Given the description of an element on the screen output the (x, y) to click on. 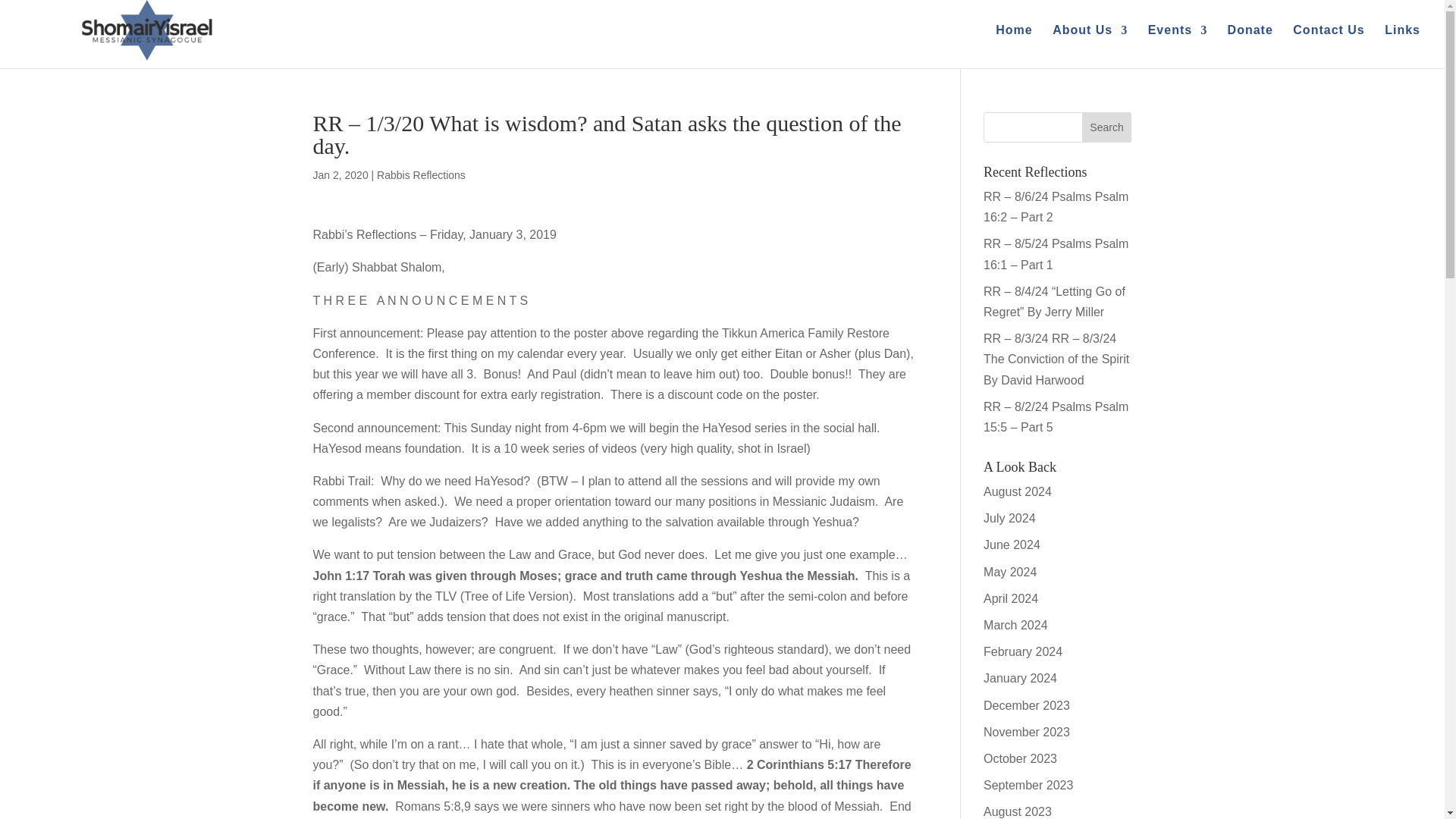
About Us (1089, 42)
Search (1106, 127)
Home (1013, 42)
Search (1106, 127)
Links (1402, 42)
Donate (1249, 42)
May 2024 (1010, 571)
June 2024 (1012, 544)
Contact Us (1328, 42)
July 2024 (1009, 517)
August 2024 (1017, 491)
Events (1177, 42)
Rabbis Reflections (421, 174)
